Given the description of an element on the screen output the (x, y) to click on. 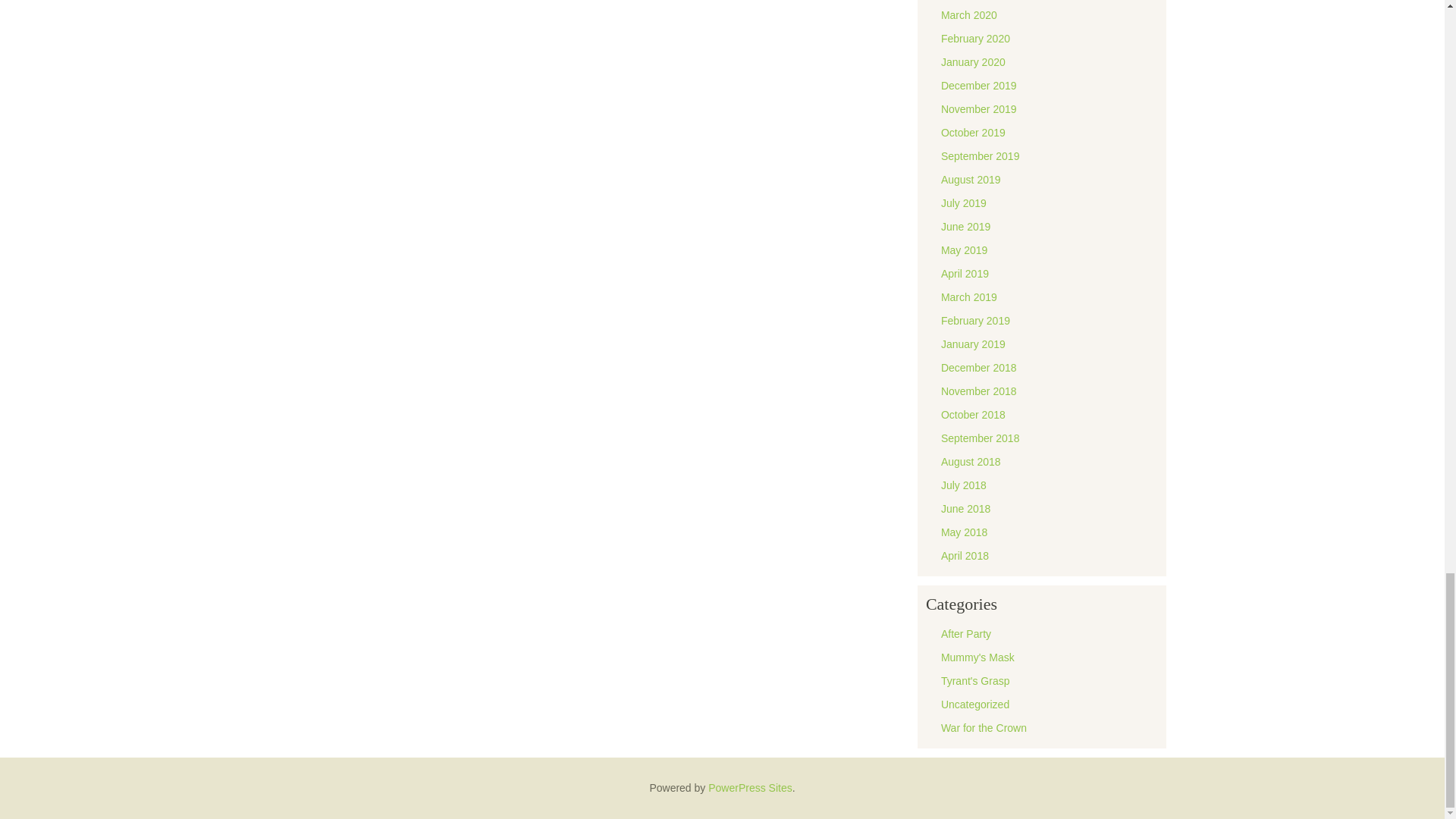
Managed WordPress Hosting for your audio and video website (749, 787)
